Given the description of an element on the screen output the (x, y) to click on. 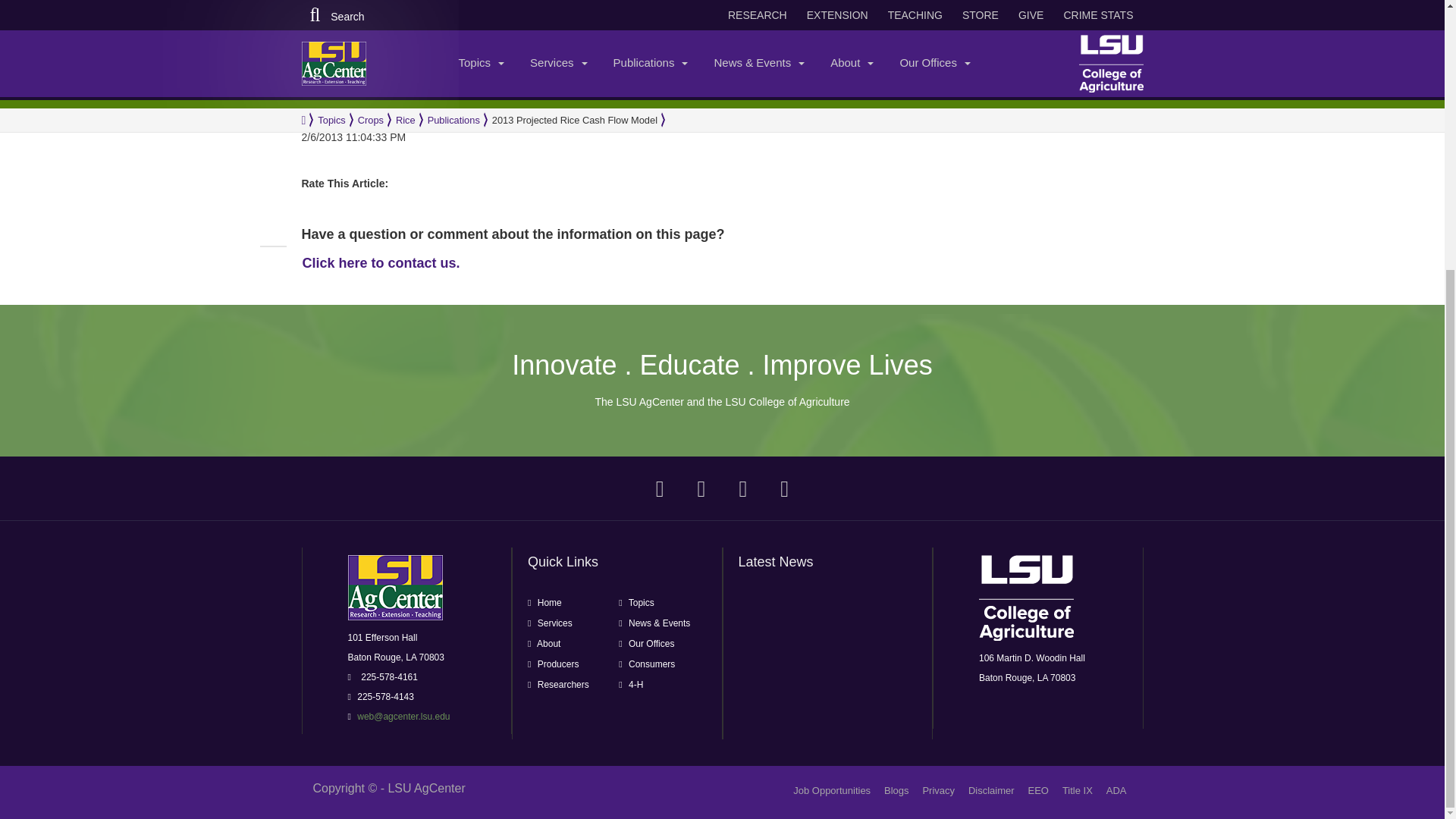
ADA Web Content Accessibility (1116, 790)
Privacyp (938, 790)
Title IX (1077, 790)
InputRating (405, 175)
Disclaimer (991, 790)
EEO (1037, 790)
Blogs (895, 790)
Careers (831, 790)
